Given the description of an element on the screen output the (x, y) to click on. 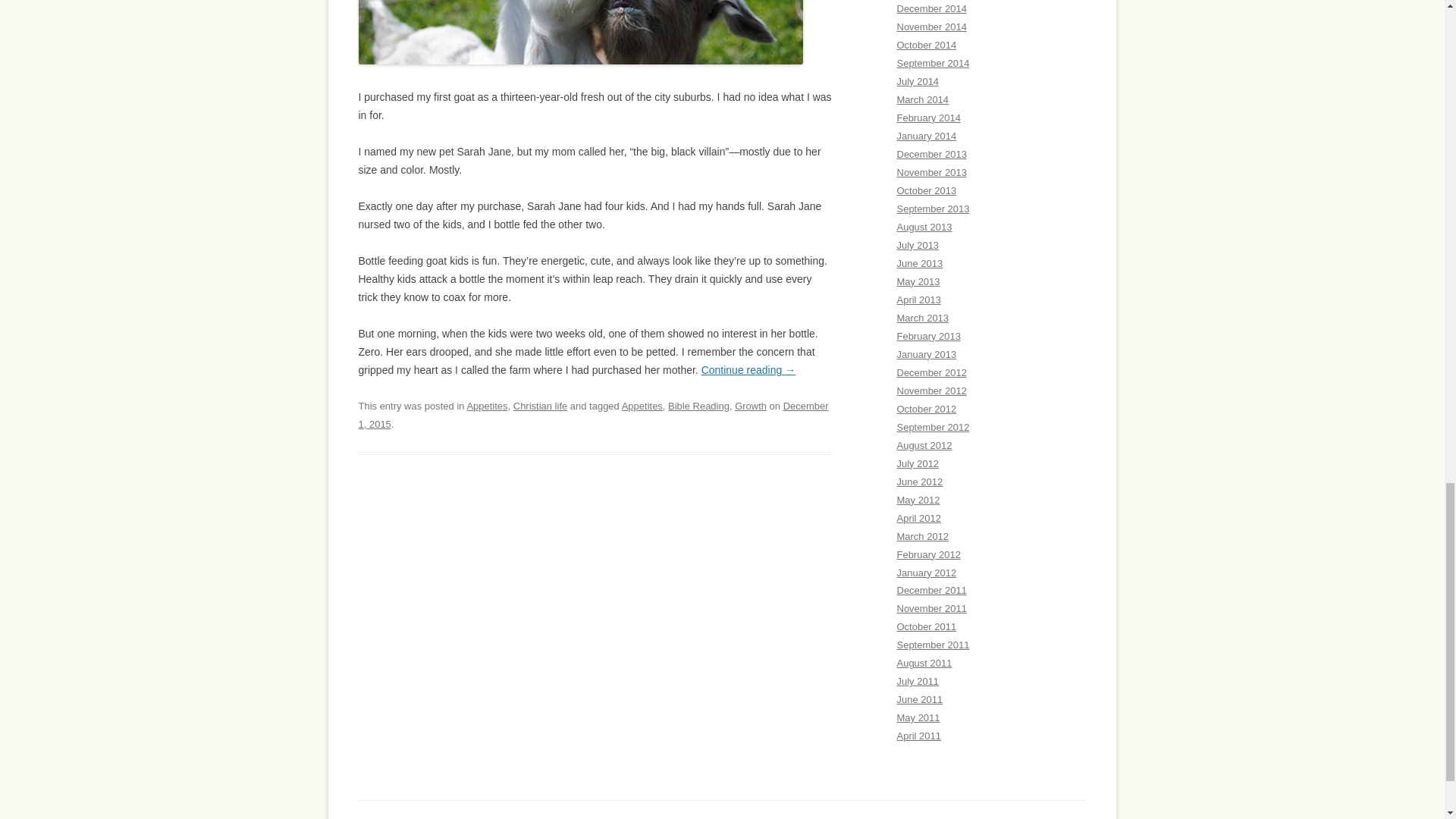
4:40 pm (593, 414)
Growth (751, 405)
December 1, 2015 (593, 414)
Appetites (485, 405)
Bible Reading (698, 405)
Christian life (540, 405)
Appetites (641, 405)
